Given the description of an element on the screen output the (x, y) to click on. 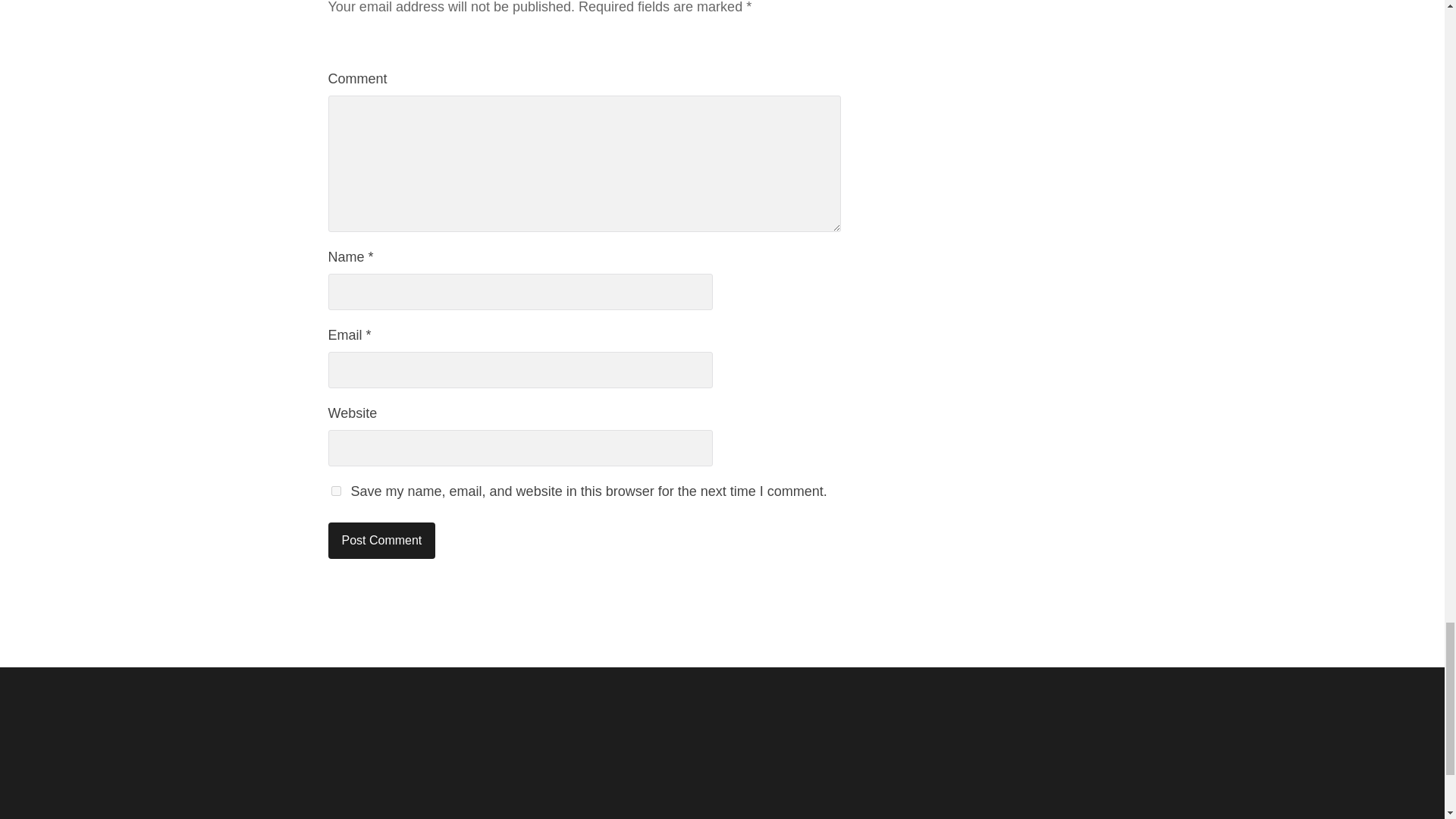
Post Comment (381, 540)
Post Comment (381, 540)
yes (335, 491)
